Given the description of an element on the screen output the (x, y) to click on. 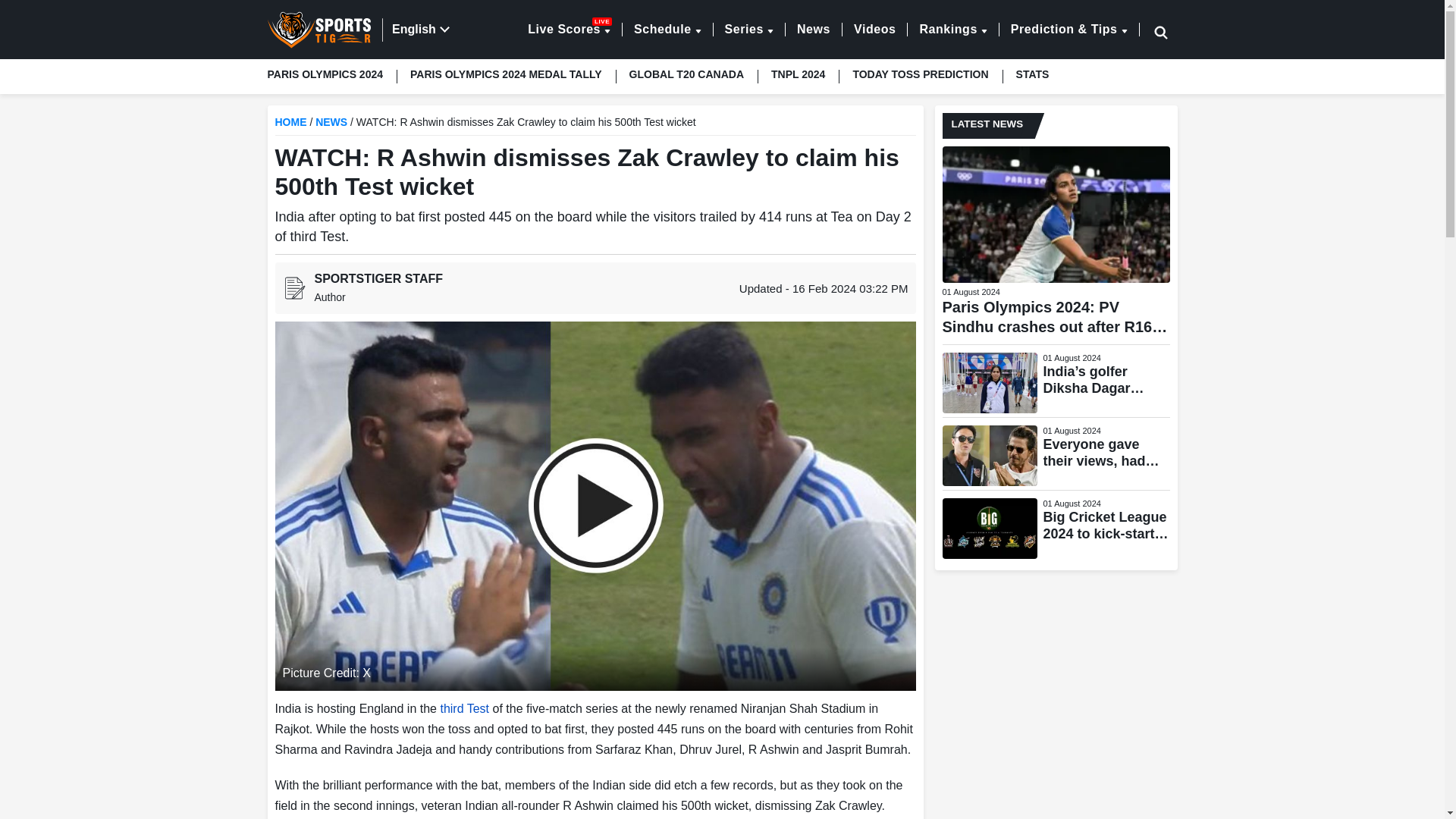
Schedule (667, 29)
Series (568, 29)
PARIS OLYMPICS 2024 (748, 29)
Rankings (331, 73)
Search (952, 29)
GLOBAL T20 CANADA (1140, 32)
PARIS OLYMPICS 2024 MEDAL TALLY (686, 73)
Videos (505, 73)
News (874, 29)
